Given the description of an element on the screen output the (x, y) to click on. 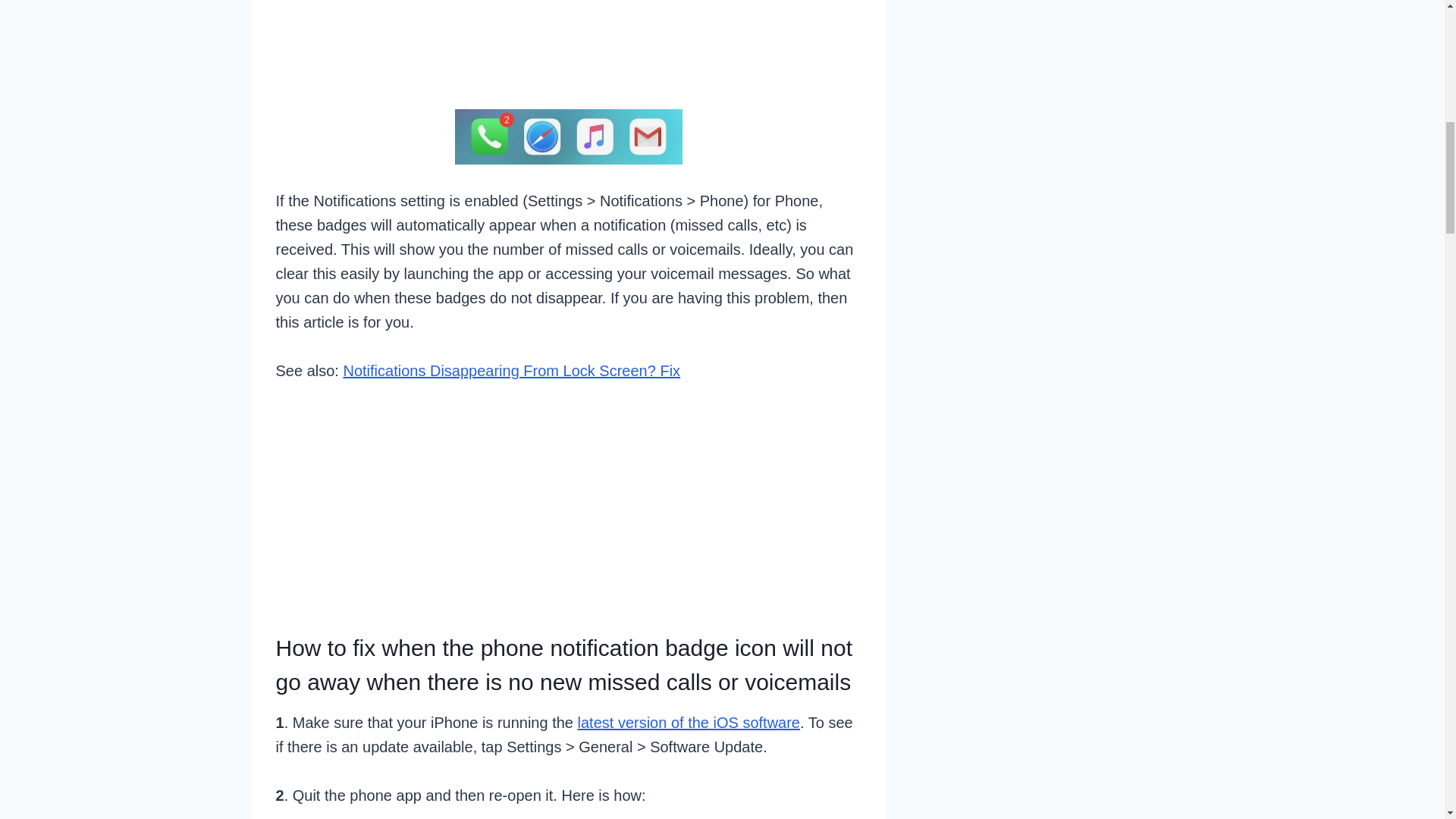
latest version of the iOS software (688, 722)
Notifications Disappearing From Lock Screen? Fix (510, 370)
